Given the description of an element on the screen output the (x, y) to click on. 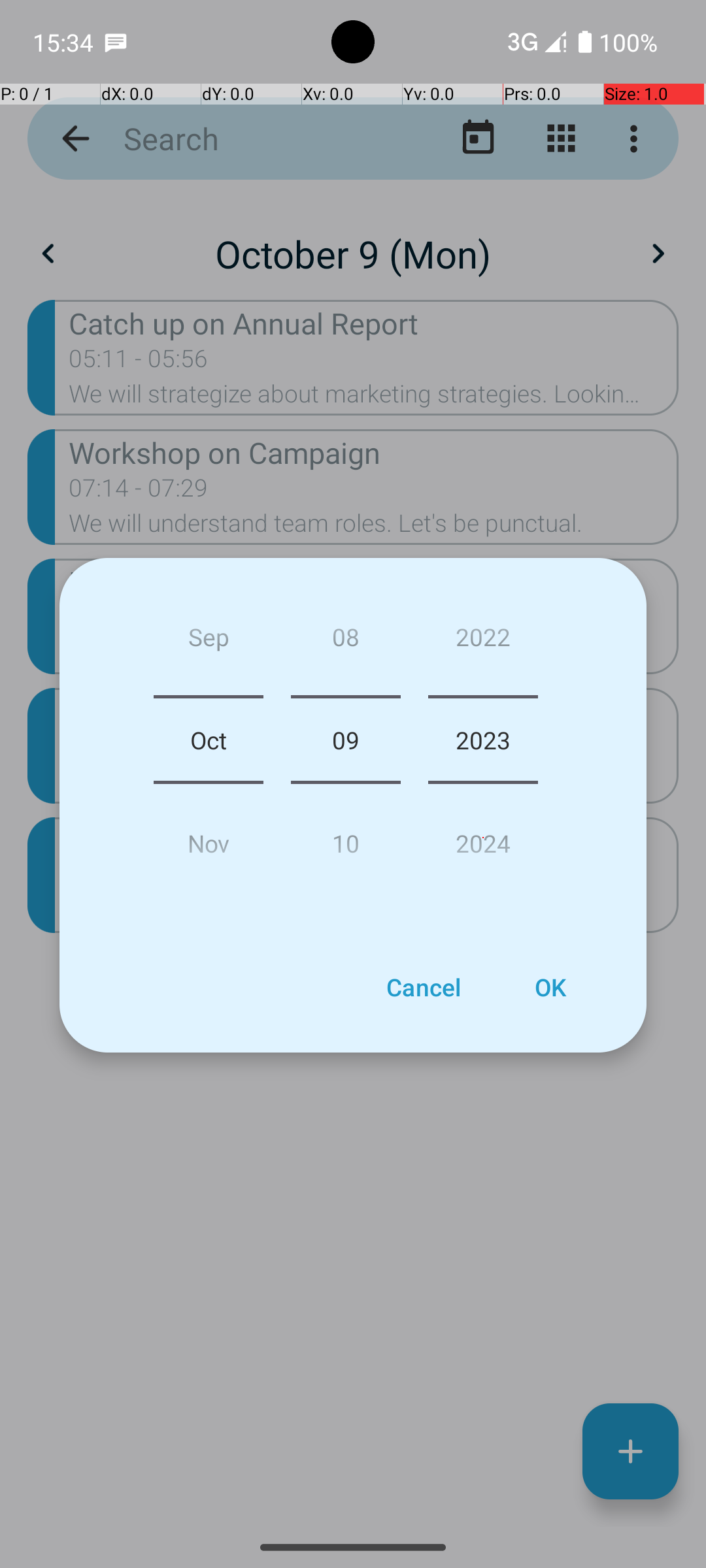
08 Element type: android.widget.Button (345, 641)
09 Element type: android.widget.EditText (345, 739)
